Given the description of an element on the screen output the (x, y) to click on. 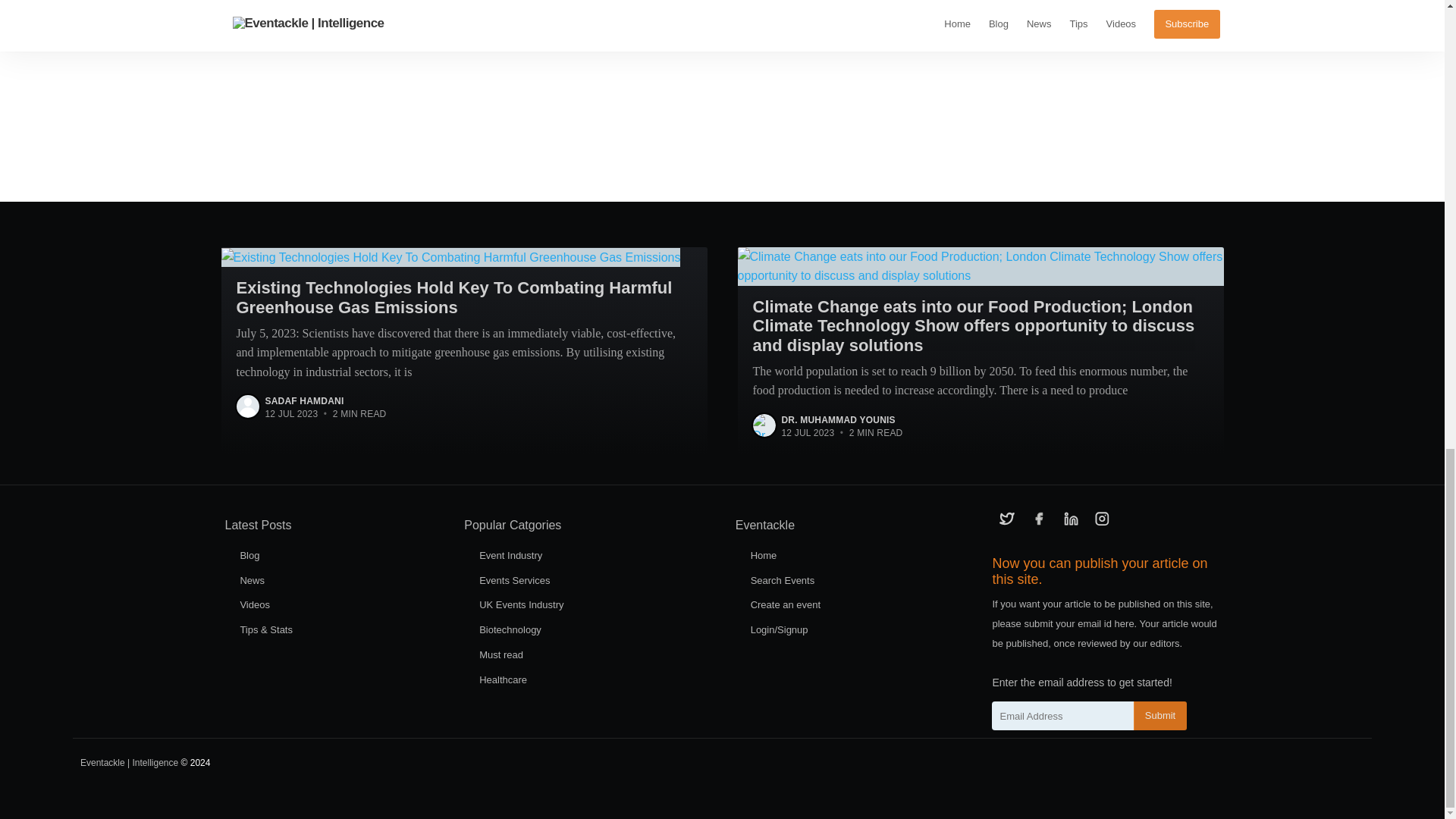
Create an event (786, 604)
News (252, 580)
Biotechnology (510, 629)
Videos (254, 604)
Events Services (514, 580)
Home (764, 555)
Healthcare (503, 679)
UK Events Industry (521, 604)
Blog (249, 555)
SADAF HAMDANI (303, 400)
Must read (500, 654)
DR. MUHAMMAD YOUNIS (837, 419)
Search Events (783, 580)
